Given the description of an element on the screen output the (x, y) to click on. 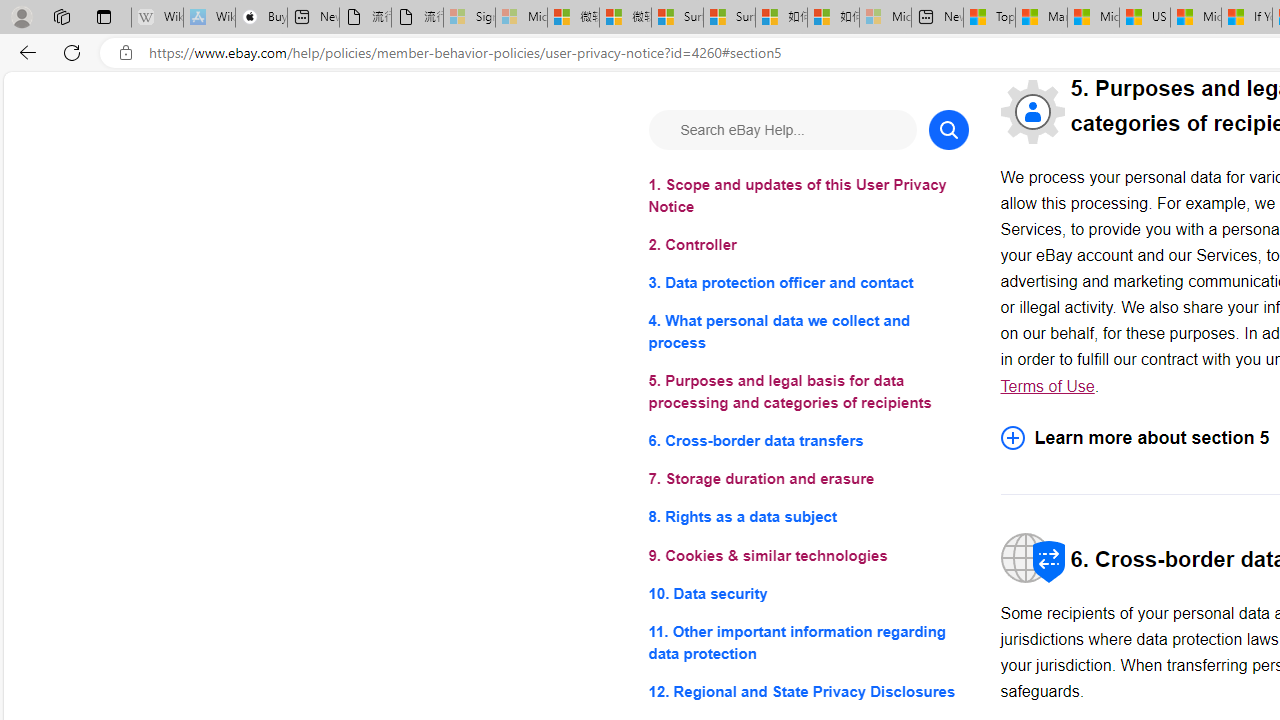
2. Controller (807, 245)
3. Data protection officer and contact (807, 283)
9. Cookies & similar technologies (807, 555)
7. Storage duration and erasure (807, 479)
4. What personal data we collect and process (807, 332)
2. Controller (807, 245)
11. Other important information regarding data protection (807, 642)
